Given the description of an element on the screen output the (x, y) to click on. 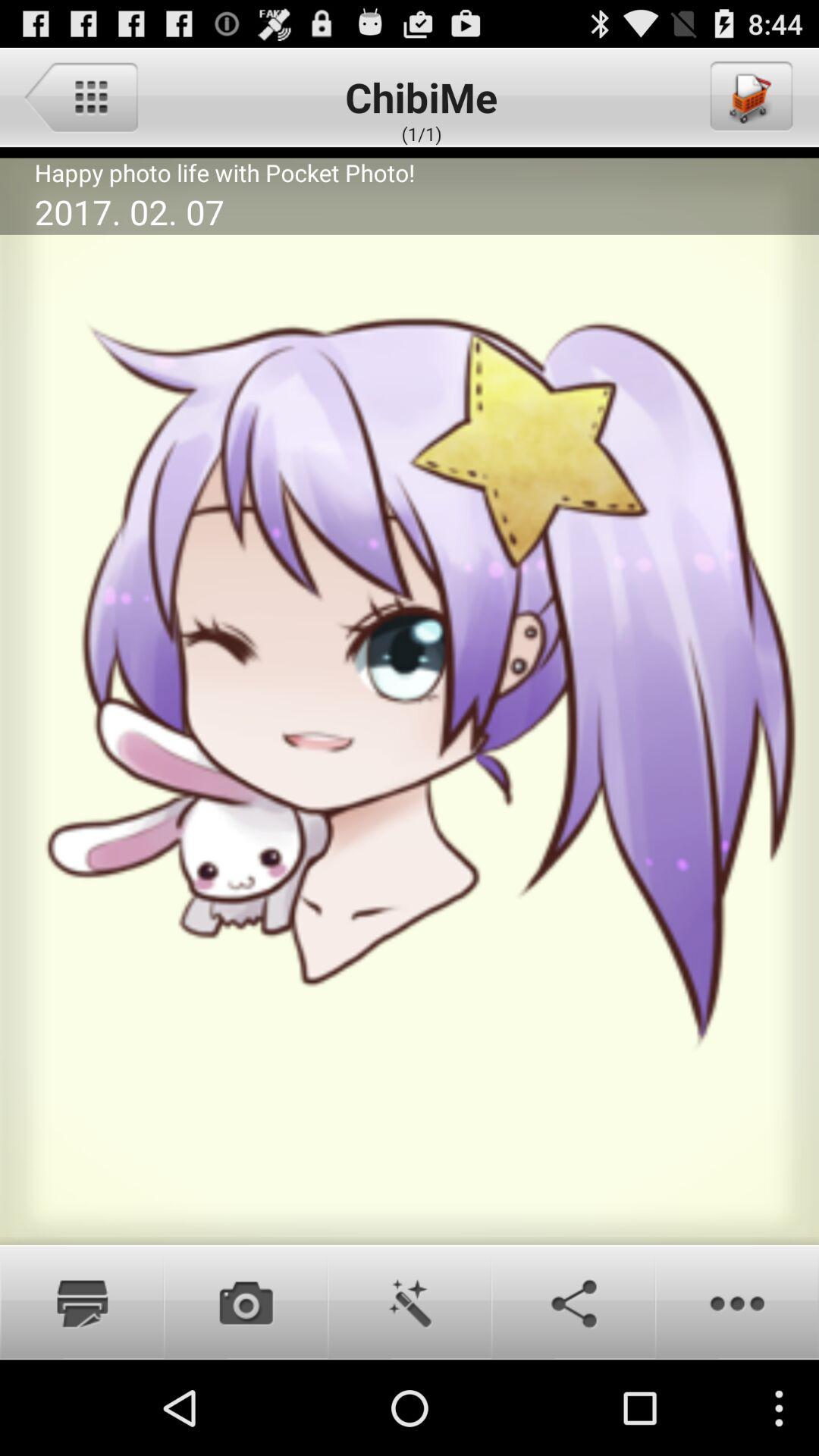
beauty options (409, 1301)
